Given the description of an element on the screen output the (x, y) to click on. 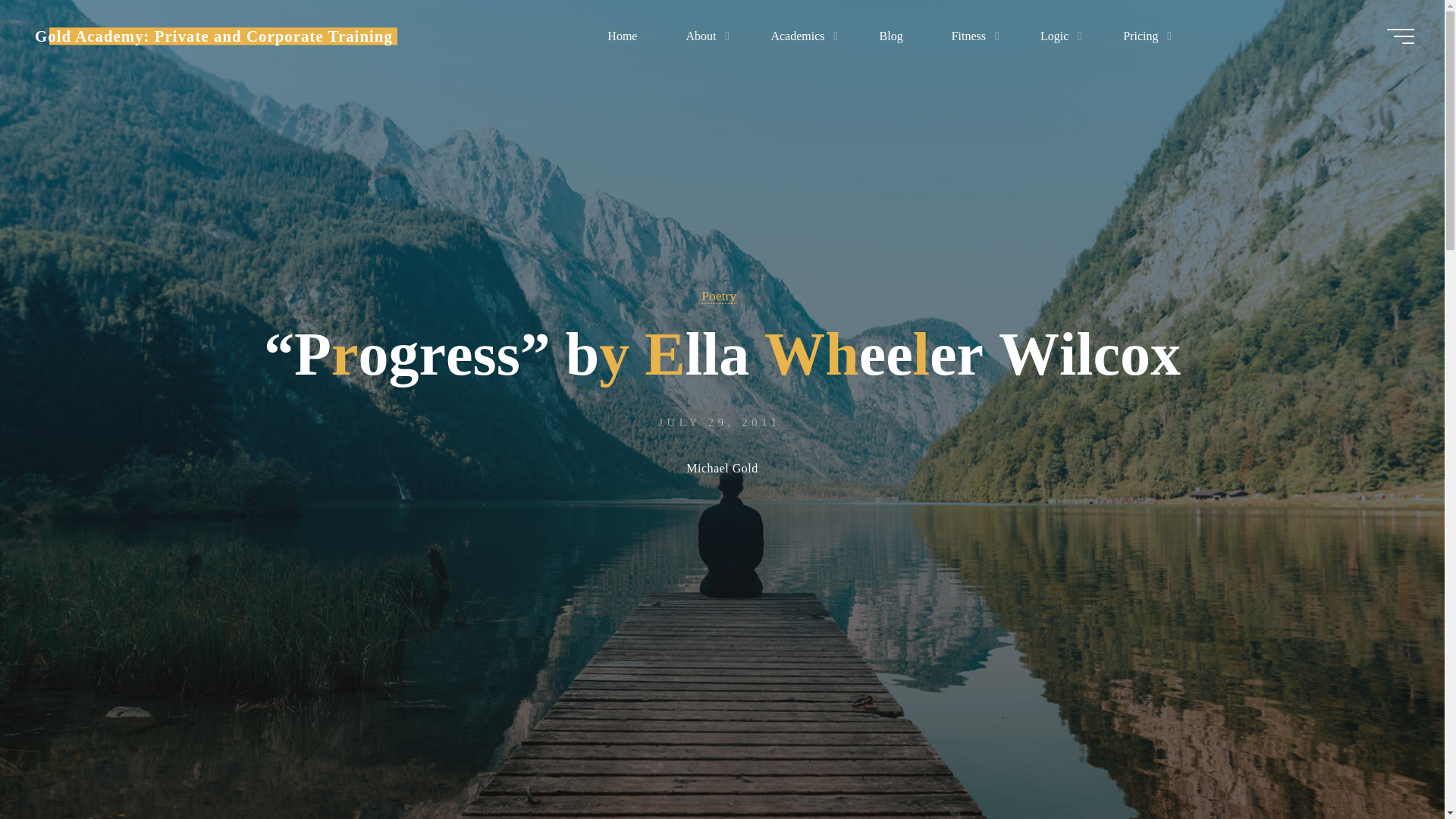
Read more (721, 724)
View all posts by Michael Gold (721, 469)
